Given the description of an element on the screen output the (x, y) to click on. 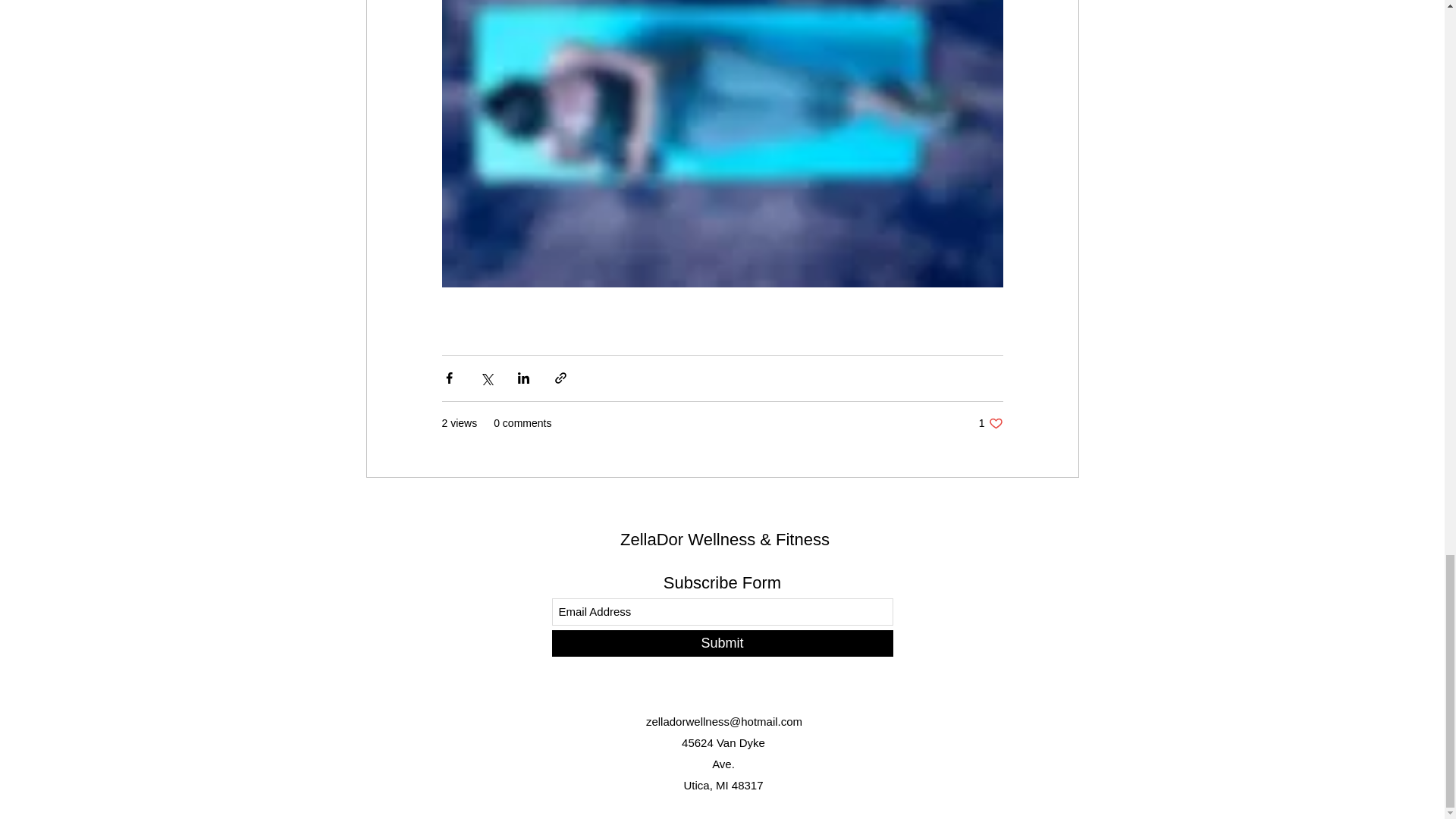
Submit (990, 423)
